Given the description of an element on the screen output the (x, y) to click on. 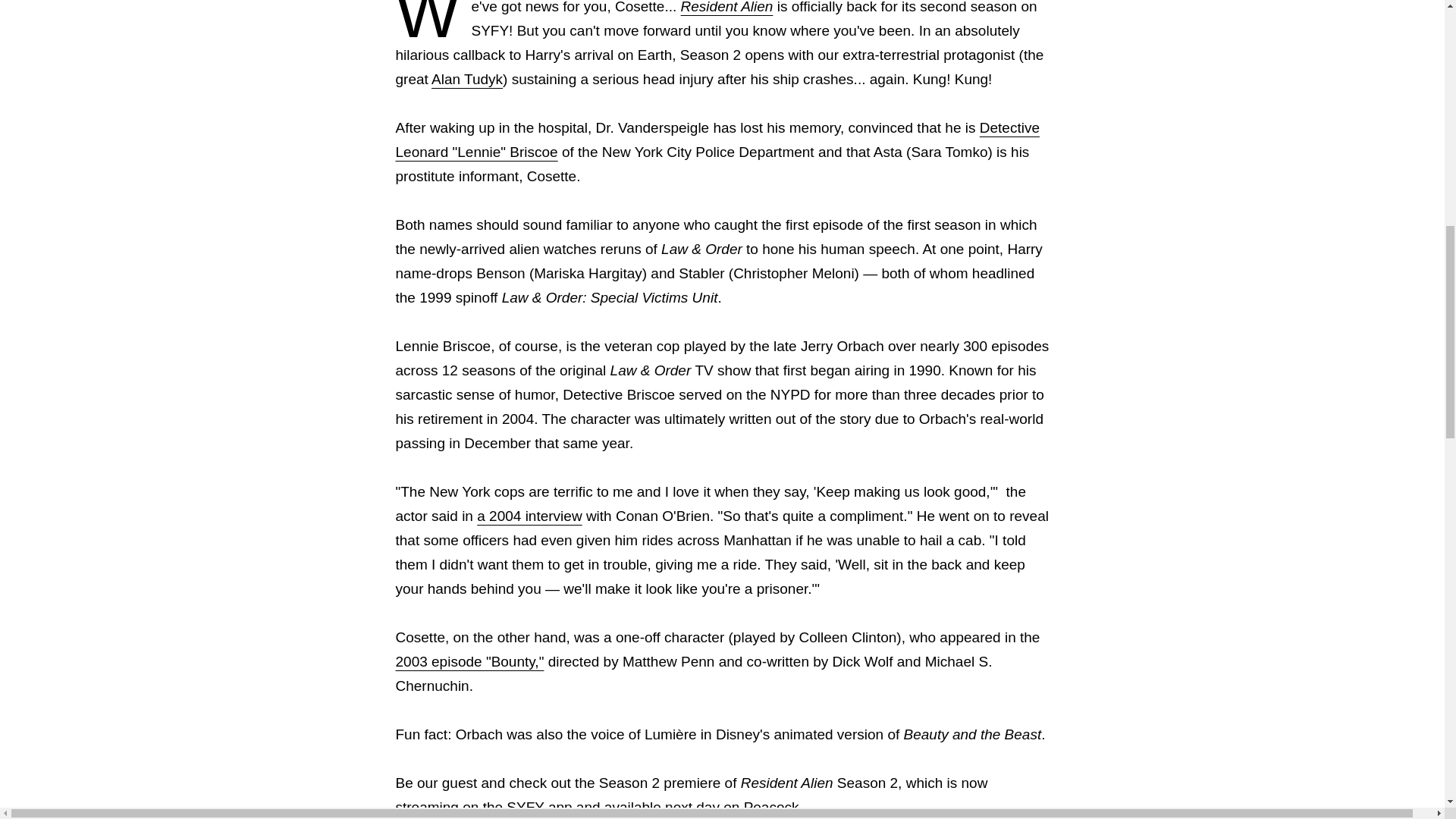
a 2004 interview (528, 515)
Alan Tudyk (466, 78)
the SYFY app (527, 806)
Detective Leonard "Lennie" Briscoe (717, 139)
Resident Alien (727, 7)
2003 episode "Bounty," (470, 661)
